Given the description of an element on the screen output the (x, y) to click on. 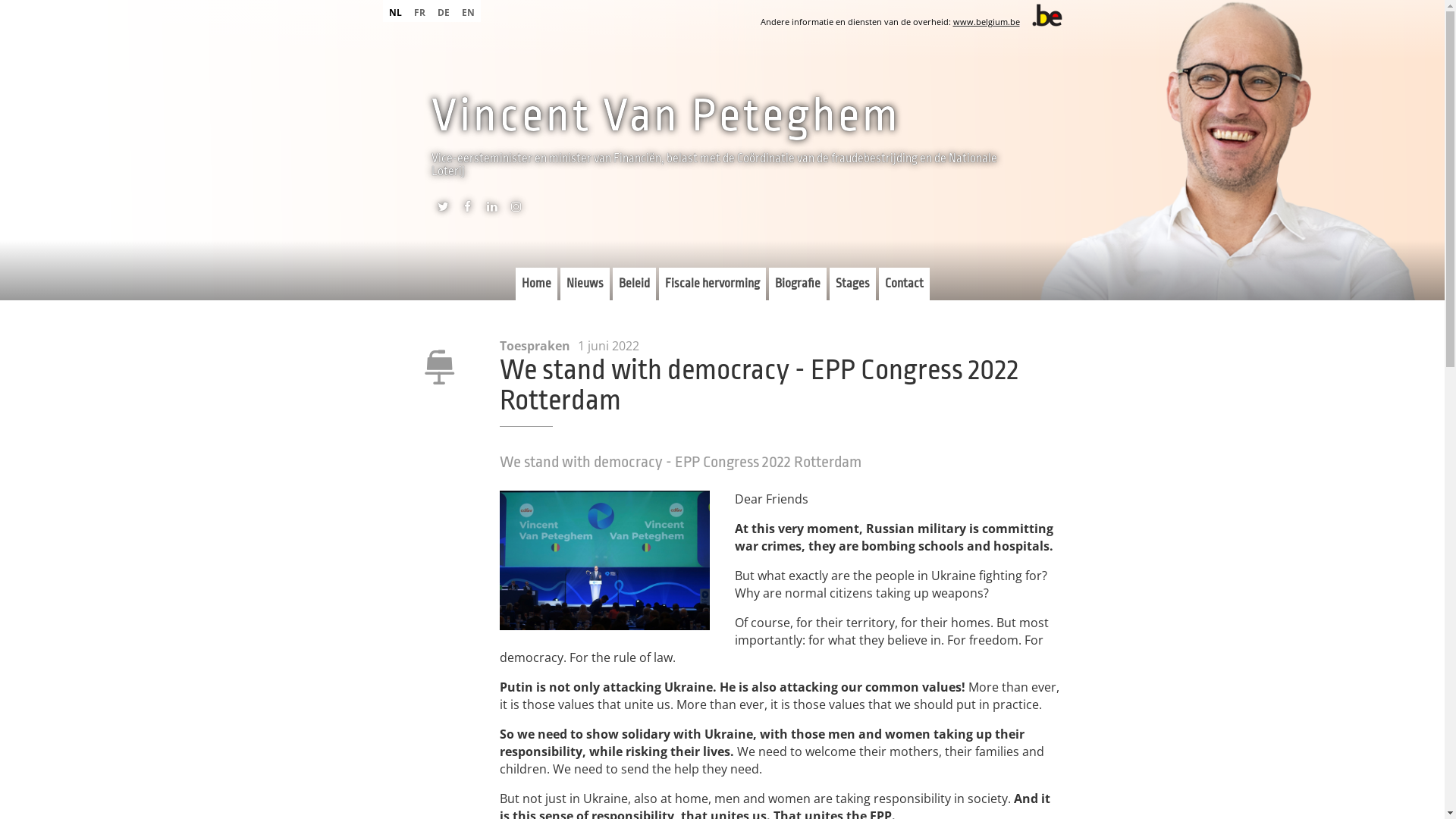
Overslaan en naar de inhoud gaan Element type: text (98, 0)
Vincent Van Peteghem Element type: text (665, 115)
NL Element type: text (394, 11)
linkedin Element type: text (491, 209)
Nieuws Element type: text (583, 284)
www.belgium.be Element type: text (985, 21)
twitter Element type: text (442, 209)
EN Element type: text (467, 11)
Stages Element type: text (852, 284)
facebook Element type: text (467, 209)
Home Element type: text (536, 284)
FR Element type: text (419, 11)
Beleid Element type: text (633, 284)
Contact Element type: text (903, 284)
Biografie Element type: text (797, 284)
instagram Element type: text (515, 209)
DE Element type: text (442, 11)
Fiscale hervorming Element type: text (711, 284)
